Given the description of an element on the screen output the (x, y) to click on. 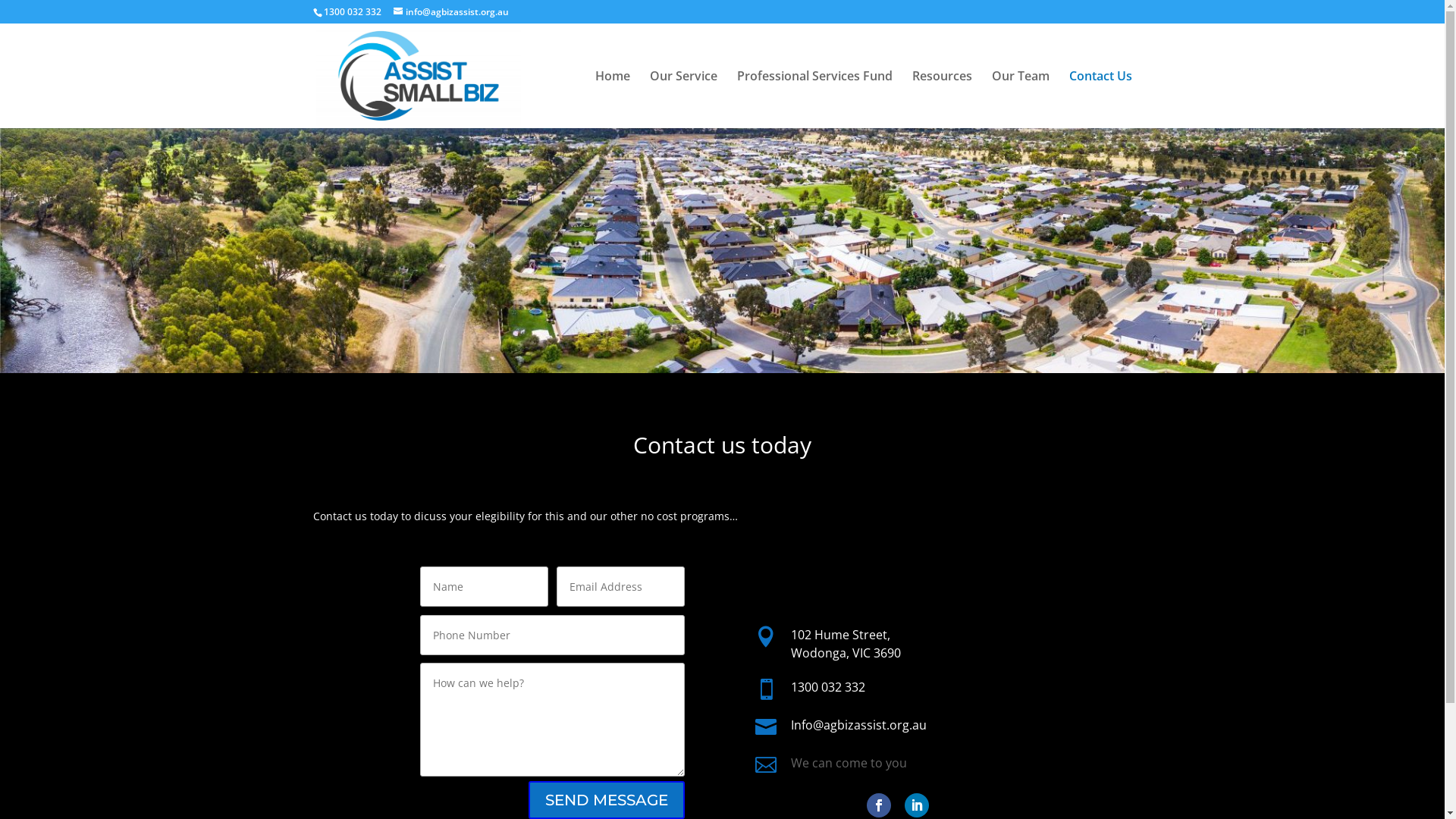
102 Hume Street,
Wodonga, VIC 3690 Element type: text (845, 643)
Our Service Element type: text (682, 99)
1300 032 332 Element type: text (827, 686)
info@agbizassist.org.au Element type: text (450, 11)
Follow on LinkedIn Element type: hover (916, 805)
Resources Element type: text (941, 99)
Professional Services Fund Element type: text (814, 99)
Home Element type: text (611, 99)
Info@agbizassist.org.au Element type: text (858, 724)
Contact Us Element type: text (1100, 99)
Our Team Element type: text (1020, 99)
Follow on Facebook Element type: hover (878, 805)
